Given the description of an element on the screen output the (x, y) to click on. 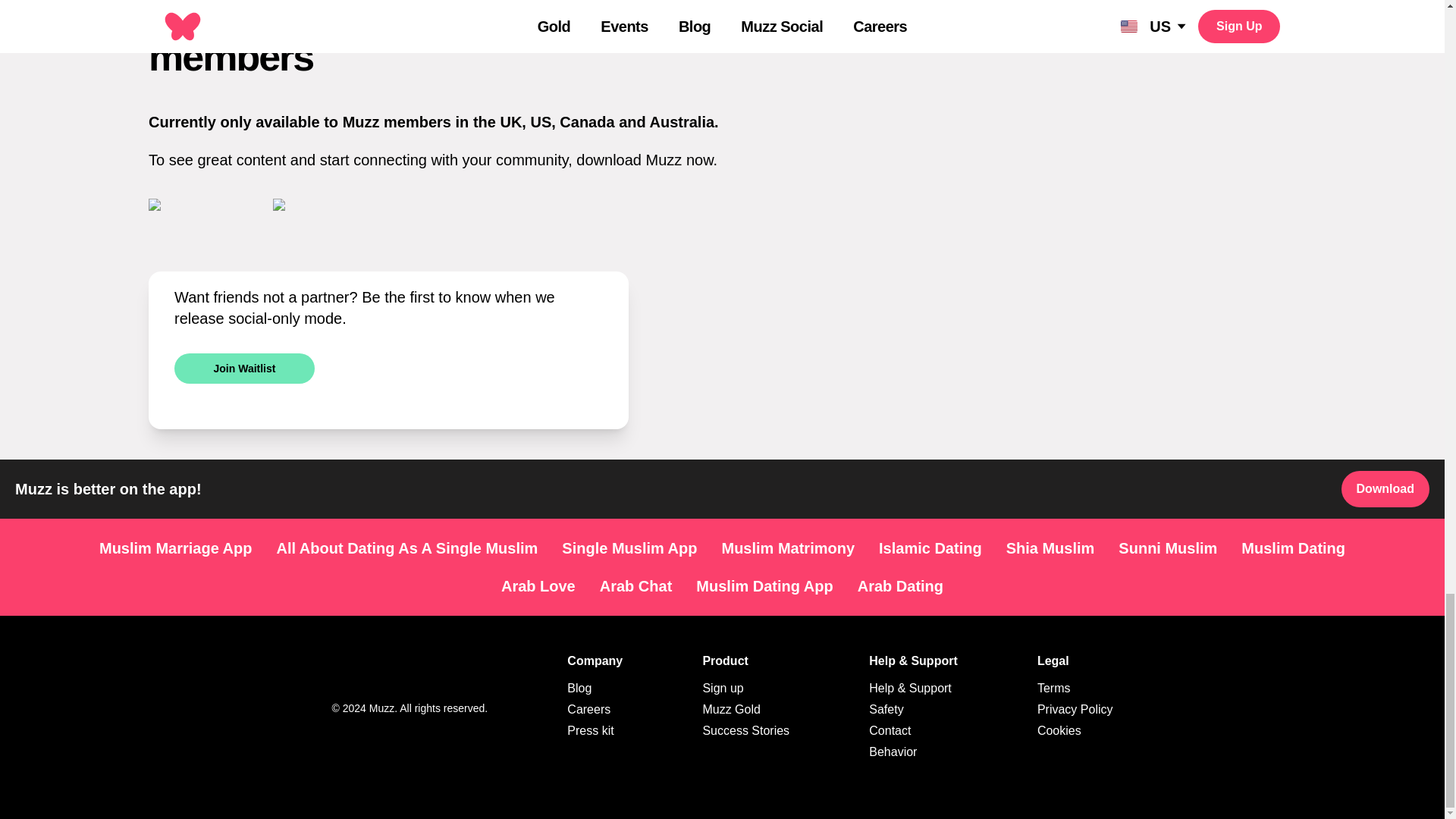
Join Waitlist (244, 368)
Sunni Muslim (1167, 548)
Shia Muslim (1050, 548)
Single Muslim App (629, 548)
Arab Love (538, 585)
Arab Chat (636, 585)
Arab Dating (900, 585)
Muslim Marriage App (175, 548)
Muslim Dating (1292, 548)
Islamic Dating (930, 548)
